Given the description of an element on the screen output the (x, y) to click on. 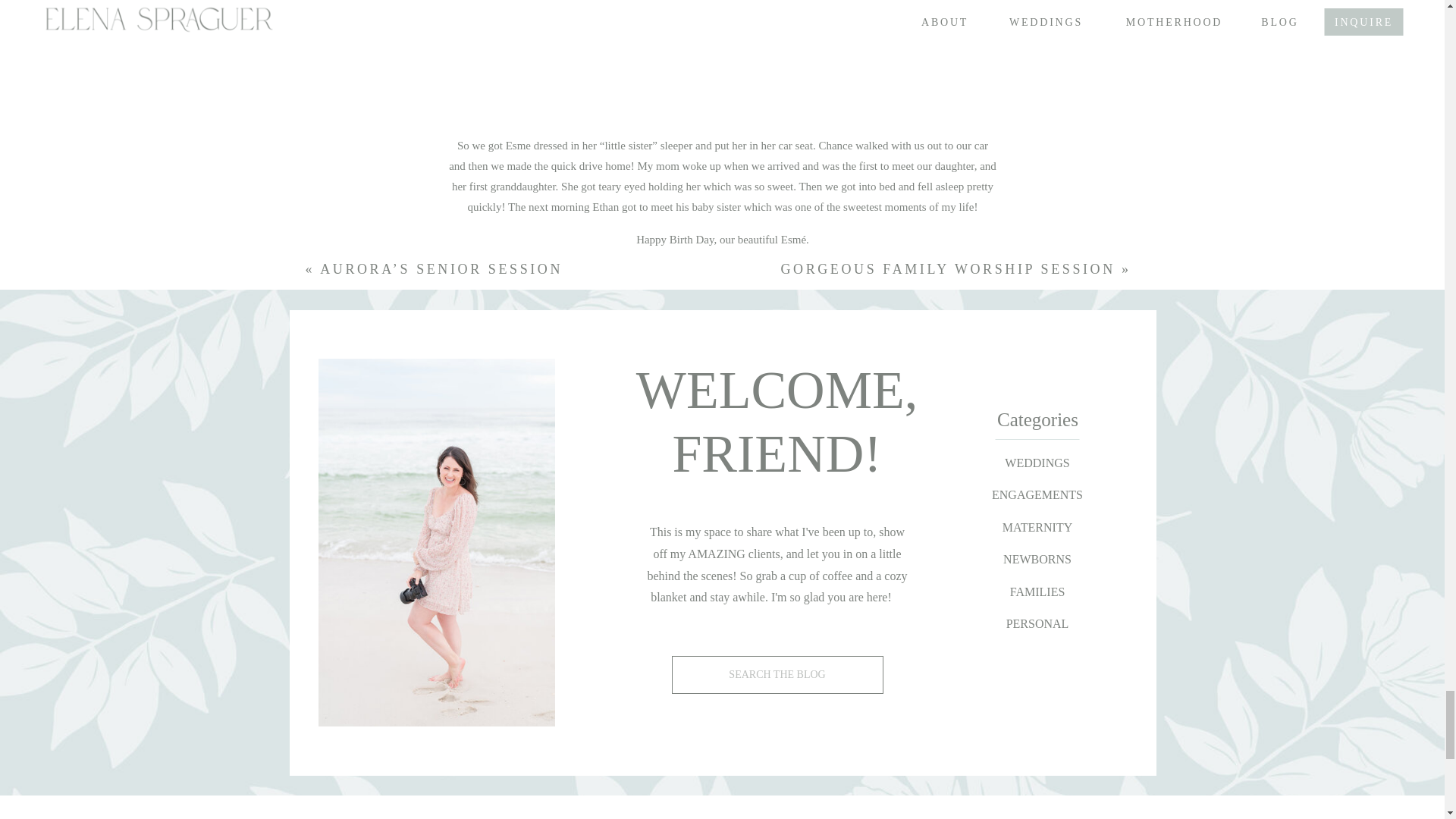
WEDDINGS (1037, 461)
FAMILIES (1037, 590)
PERSONAL (1037, 622)
NEWBORNS (1037, 558)
MATERNITY (1037, 526)
2020.8.12 Esme's Birth Vlog (721, 67)
GORGEOUS FAMILY WORSHIP SESSION (947, 268)
ENGAGEMENTS (1036, 493)
